Given the description of an element on the screen output the (x, y) to click on. 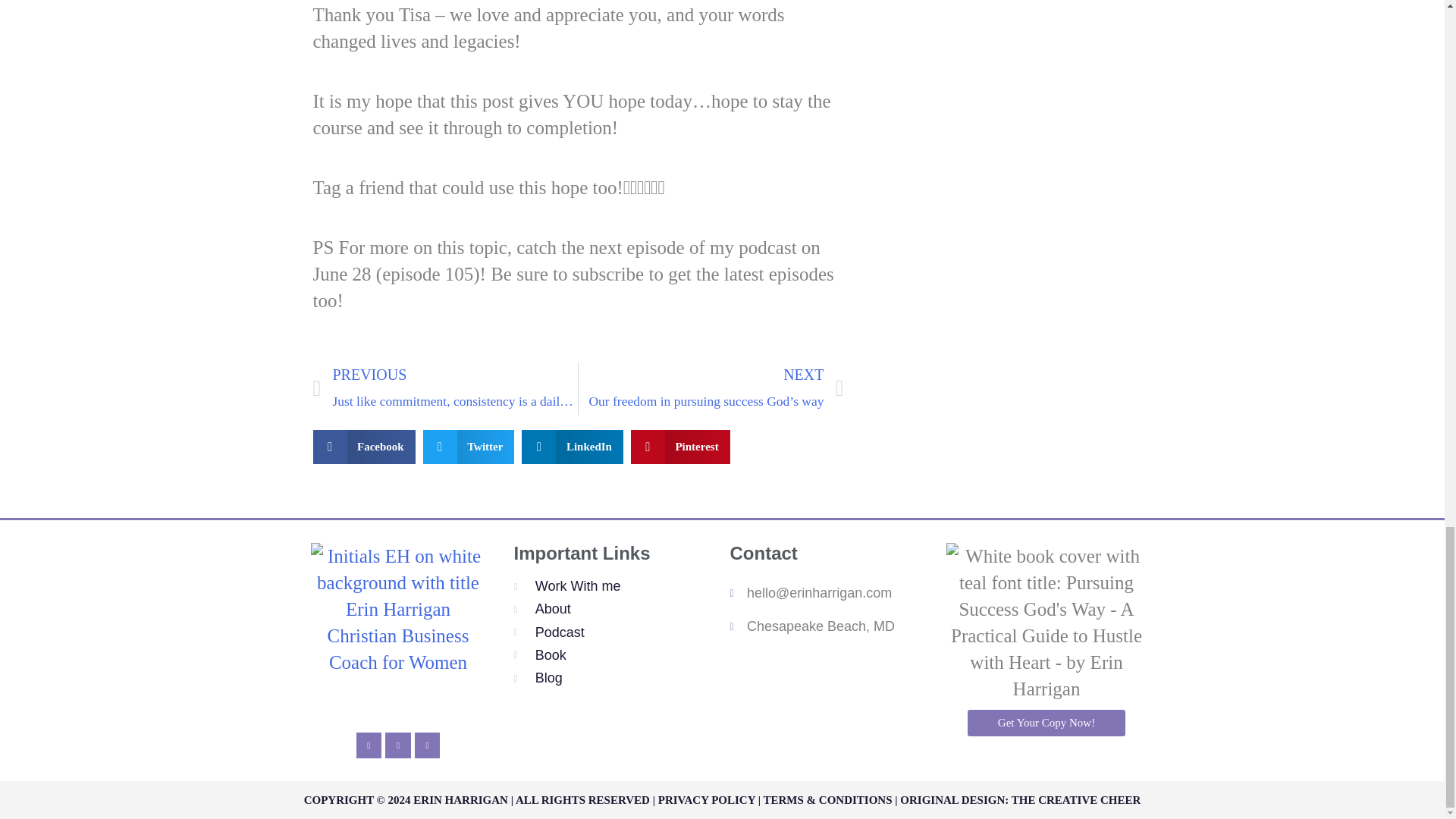
Instagram (427, 745)
Youtube (397, 745)
Linkedin (368, 745)
